Given the description of an element on the screen output the (x, y) to click on. 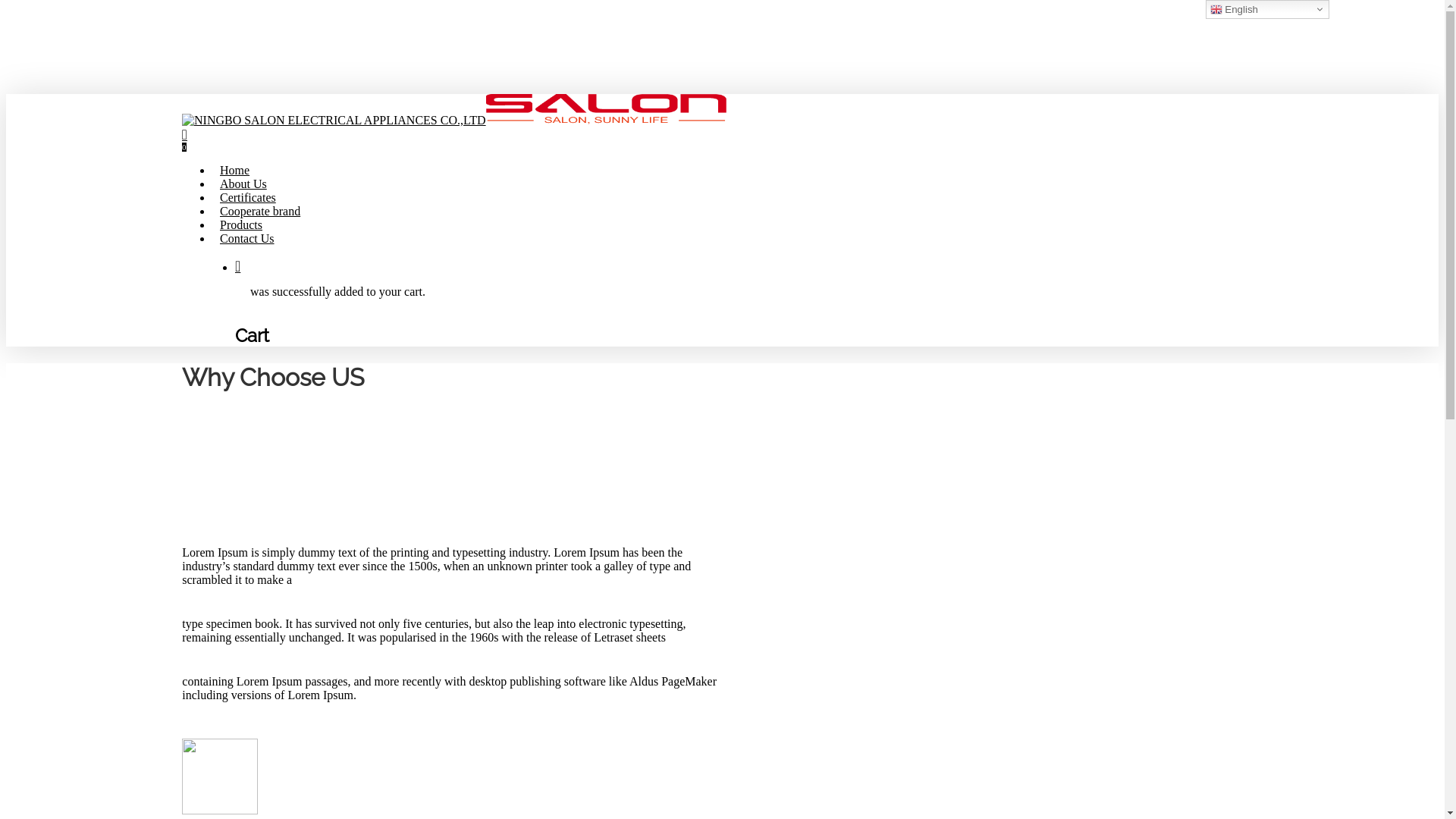
About Us Element type: text (242, 183)
English Element type: text (1267, 9)
Cooperate brand Element type: text (259, 210)
Products Element type: text (240, 224)
Certificates Element type: text (247, 197)
0 Element type: text (722, 139)
Skip to main content Element type: text (5, 5)
Contact Us Element type: text (246, 238)
Home Element type: text (234, 169)
